Given the description of an element on the screen output the (x, y) to click on. 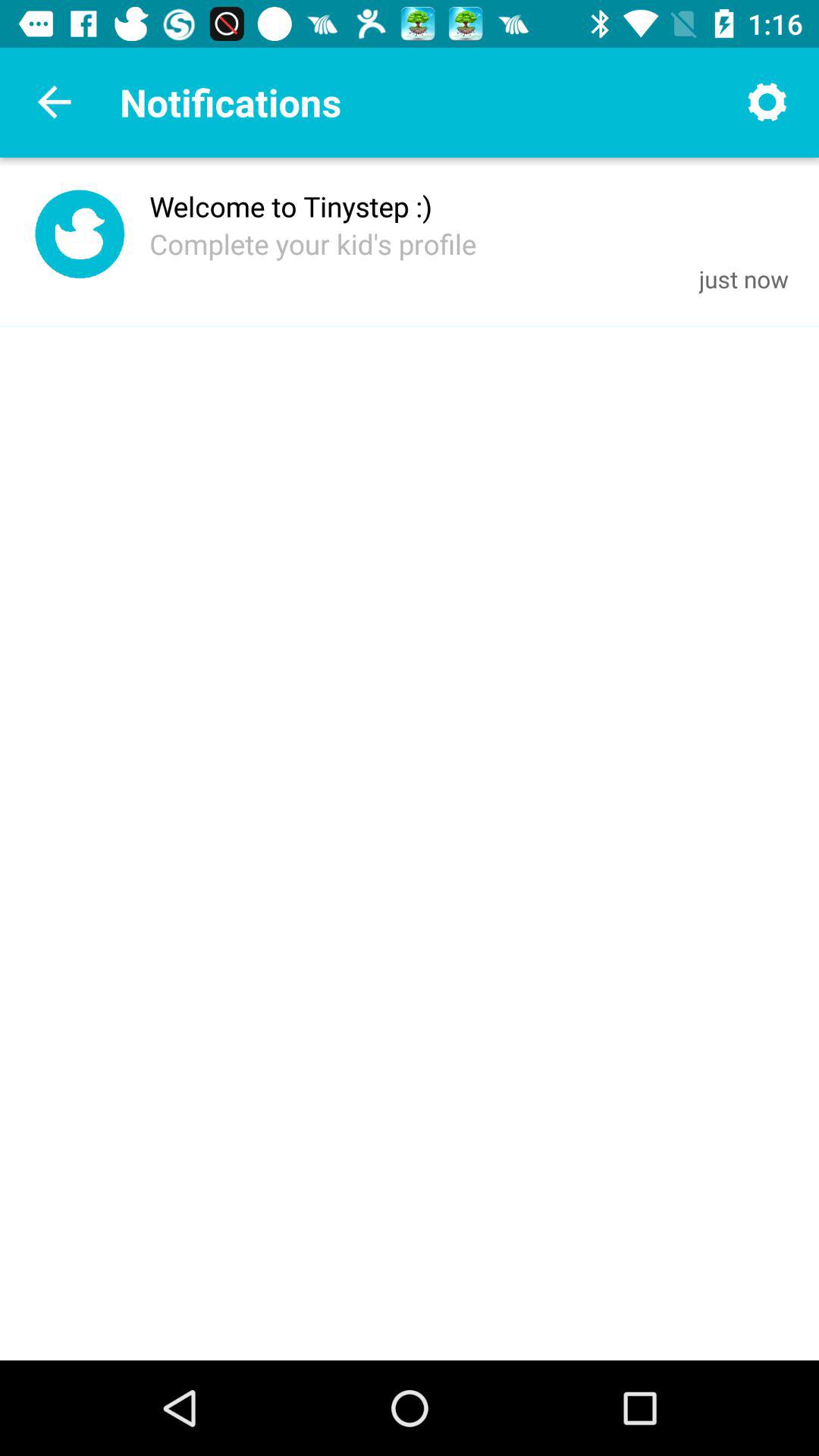
select just now icon (743, 278)
